Given the description of an element on the screen output the (x, y) to click on. 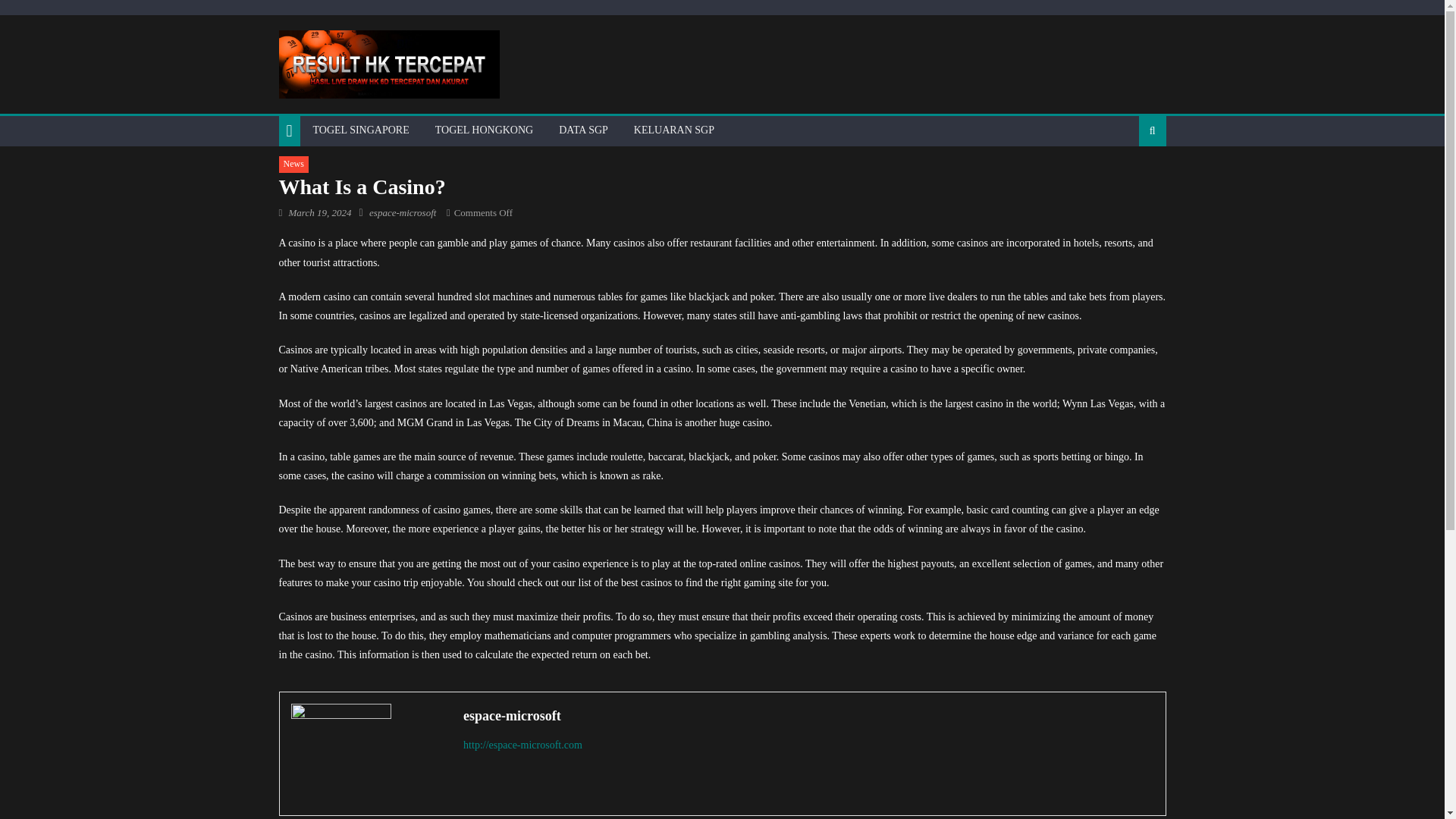
TOGEL SINGAPORE (360, 130)
TOGEL HONGKONG (483, 130)
DATA SGP (583, 130)
KELUARAN SGP (674, 130)
Search (1128, 180)
News (293, 164)
March 19, 2024 (319, 212)
espace-microsoft (808, 715)
espace-microsoft (402, 212)
